Given the description of an element on the screen output the (x, y) to click on. 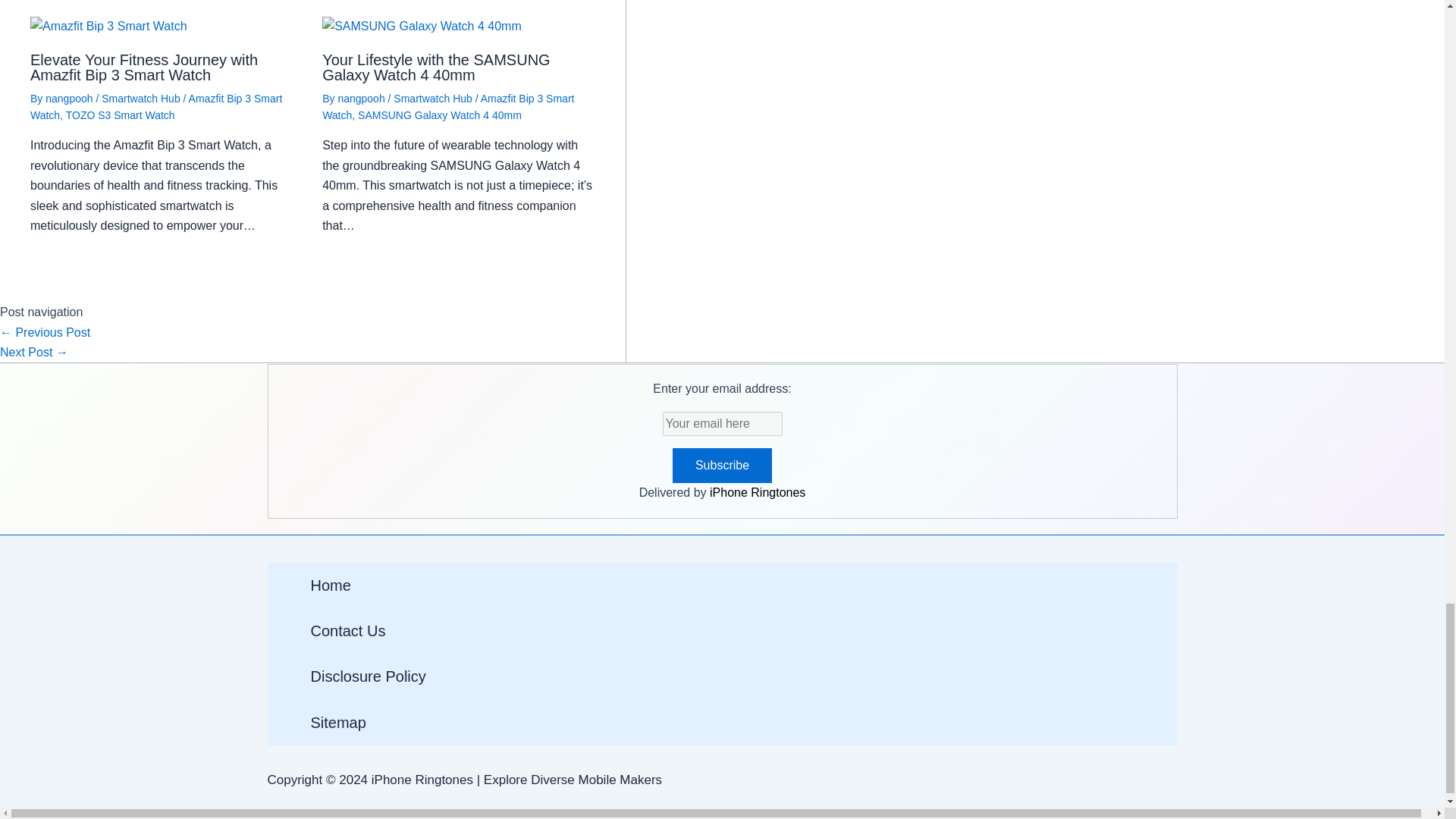
Amazfit Bip 3 Smart Watch (108, 26)
View all posts by nangpooh (362, 98)
SAMSUNG Galaxy Watch 4 40mm (421, 26)
Subscribe (721, 465)
Stay Up-to-Date with the Latest iPhone Models from Apple (45, 332)
View all posts by nangpooh (70, 98)
